Given the description of an element on the screen output the (x, y) to click on. 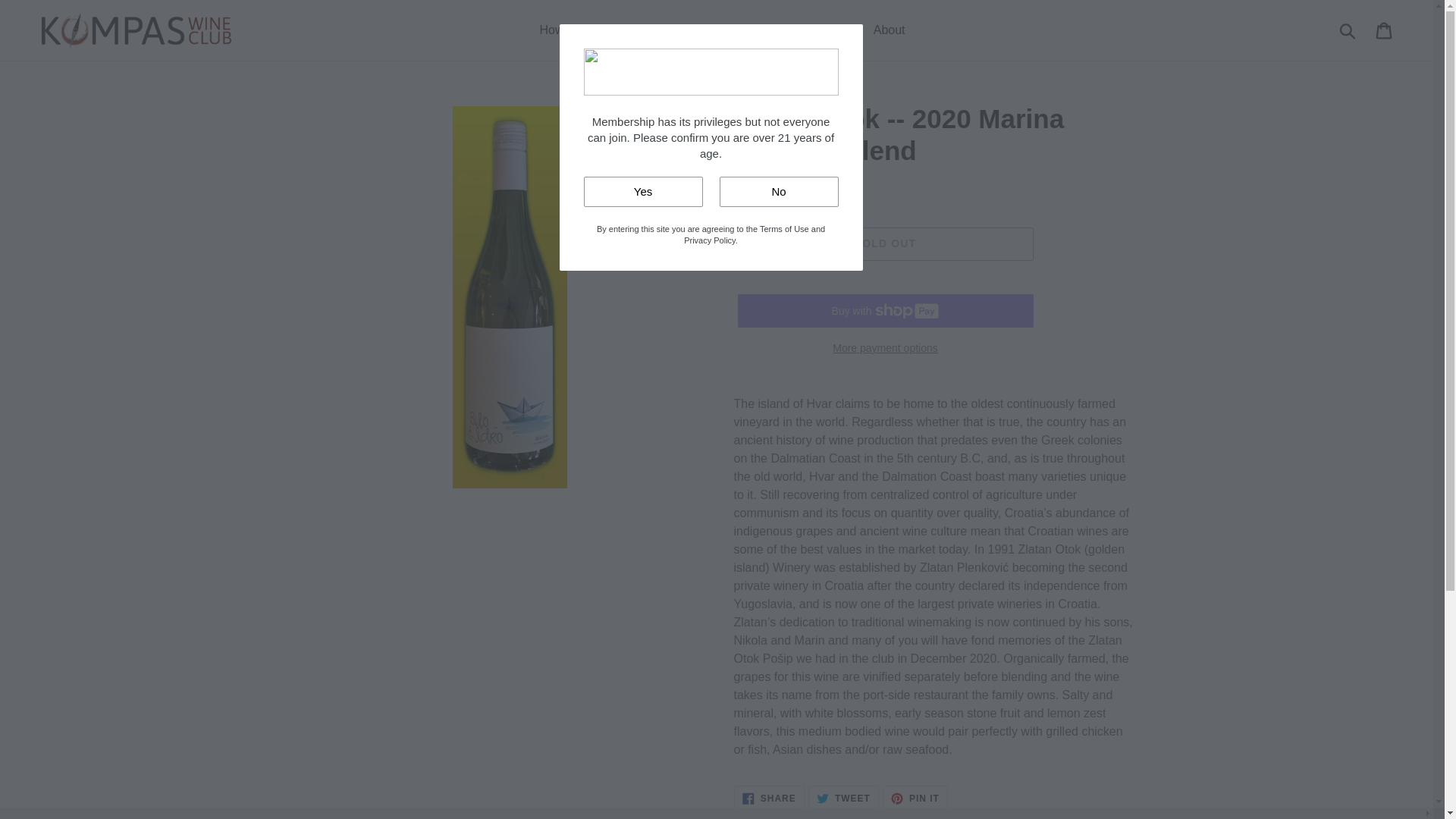
Join Now or Ask a Question (780, 29)
Yes (643, 191)
No (778, 191)
Our Wines (659, 29)
More payment options (884, 348)
How It Works (769, 798)
Cart (914, 798)
SOLD OUT (574, 29)
Yes (1385, 29)
No (884, 244)
Submit (643, 191)
About (843, 798)
